Given the description of an element on the screen output the (x, y) to click on. 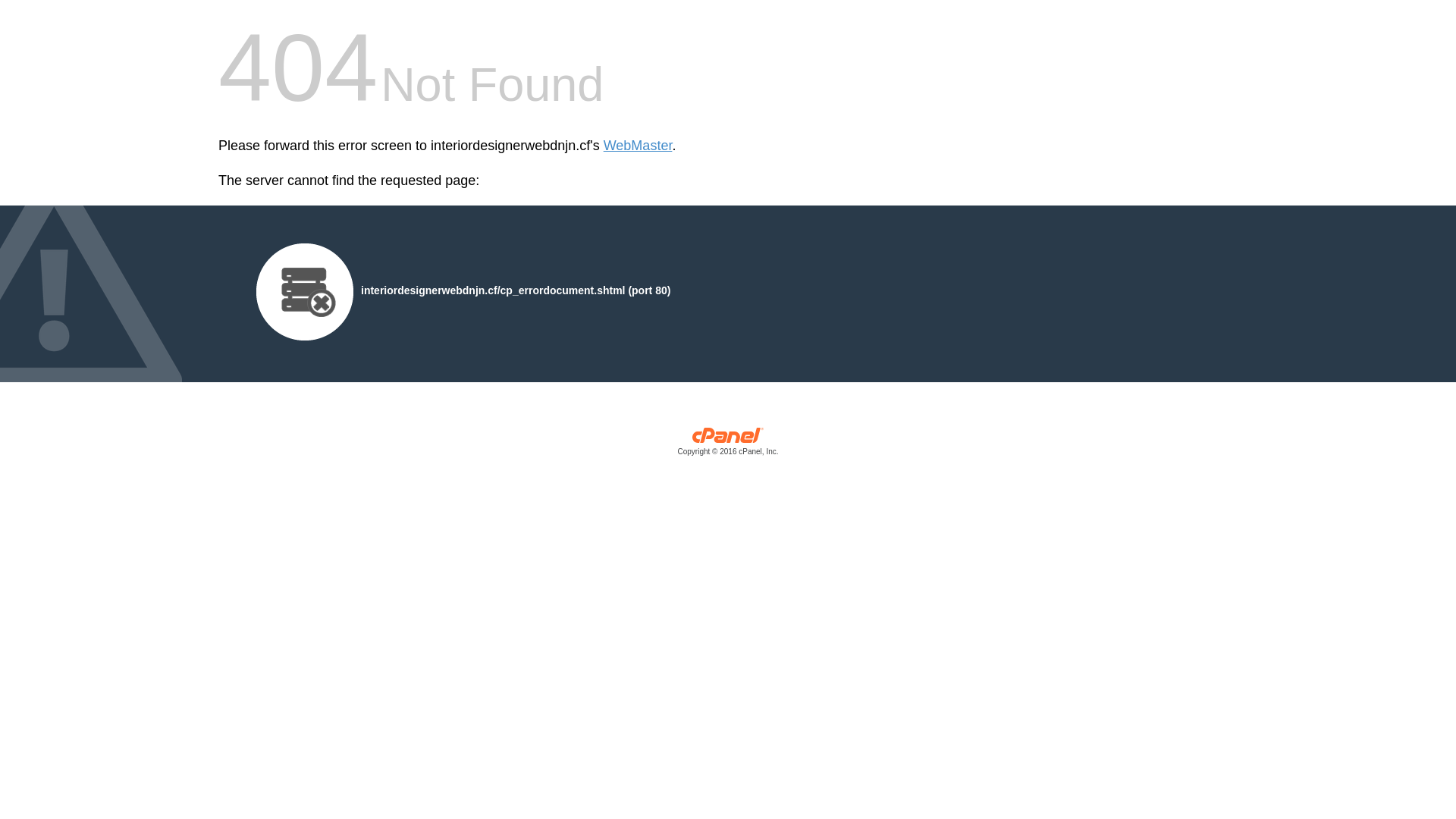
WebMaster Element type: text (637, 145)
